Given the description of an element on the screen output the (x, y) to click on. 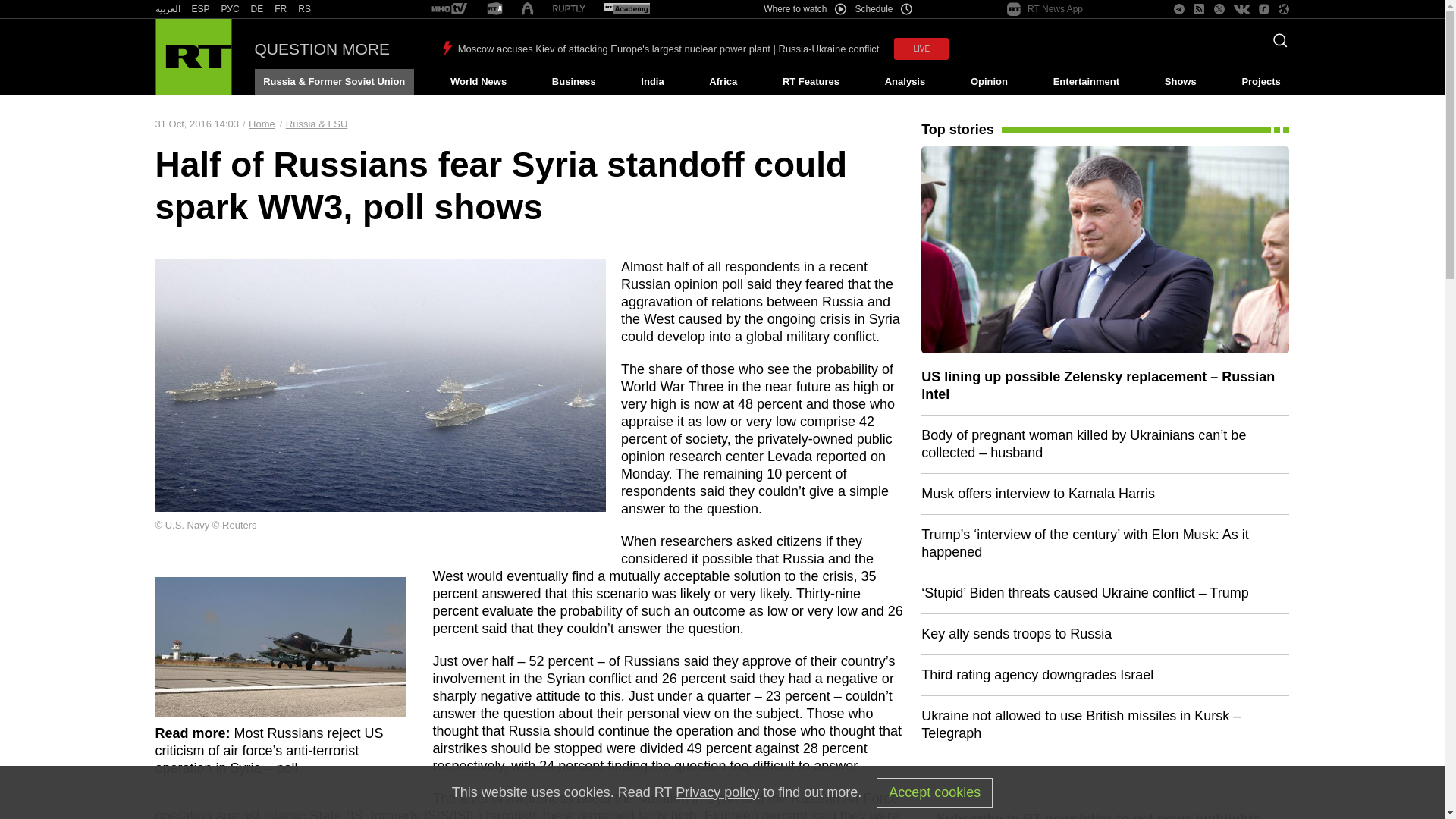
QUESTION MORE (322, 48)
LIVE (921, 48)
RT  (280, 9)
Entertainment (1085, 81)
RT  (166, 9)
RT  (626, 9)
FR (280, 9)
ESP (199, 9)
Opinion (988, 81)
RT  (448, 9)
